Given the description of an element on the screen output the (x, y) to click on. 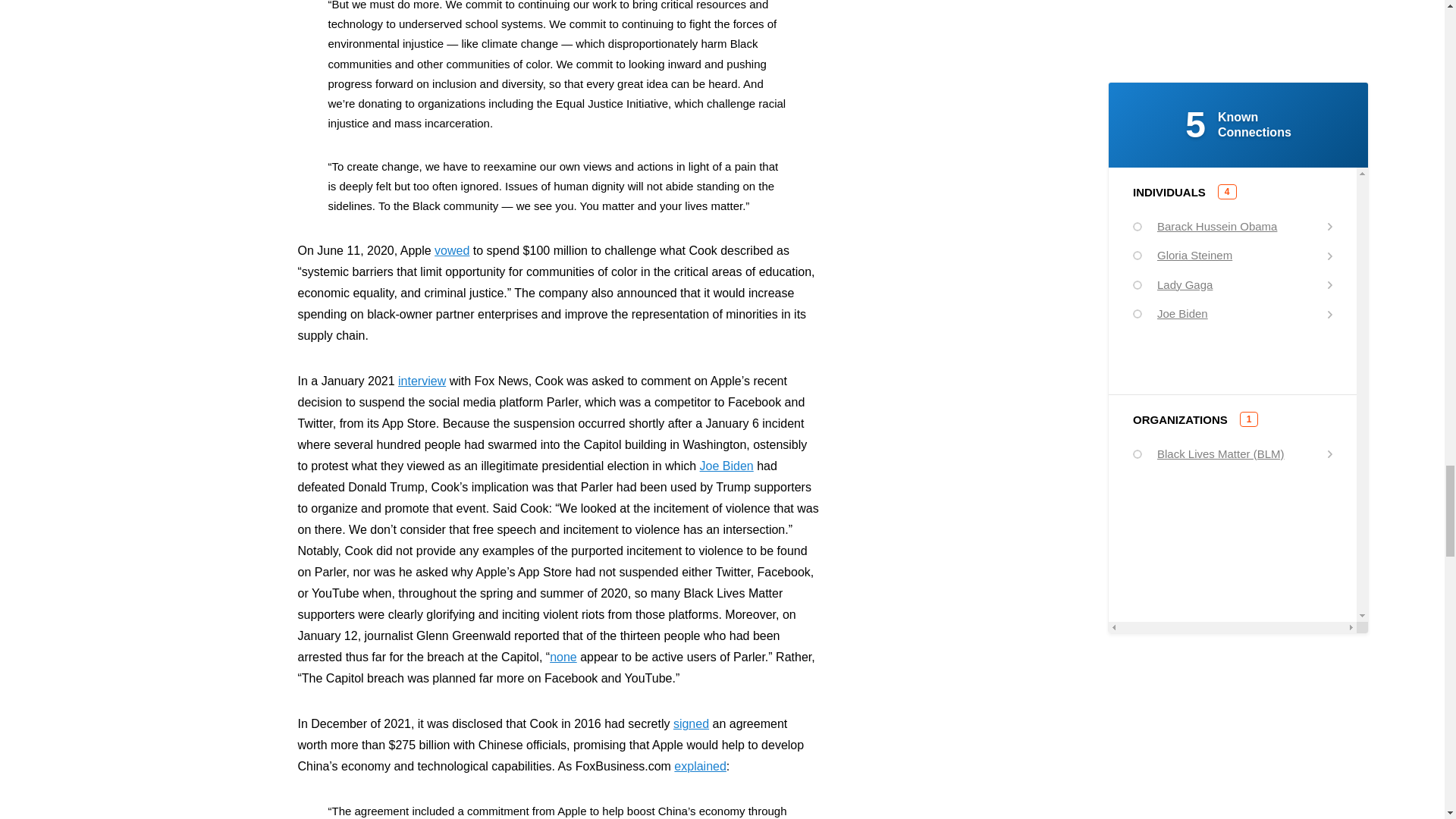
explained (700, 766)
vowed (450, 250)
none (563, 656)
interview (421, 380)
Joe Biden (727, 465)
signed (690, 723)
